Given the description of an element on the screen output the (x, y) to click on. 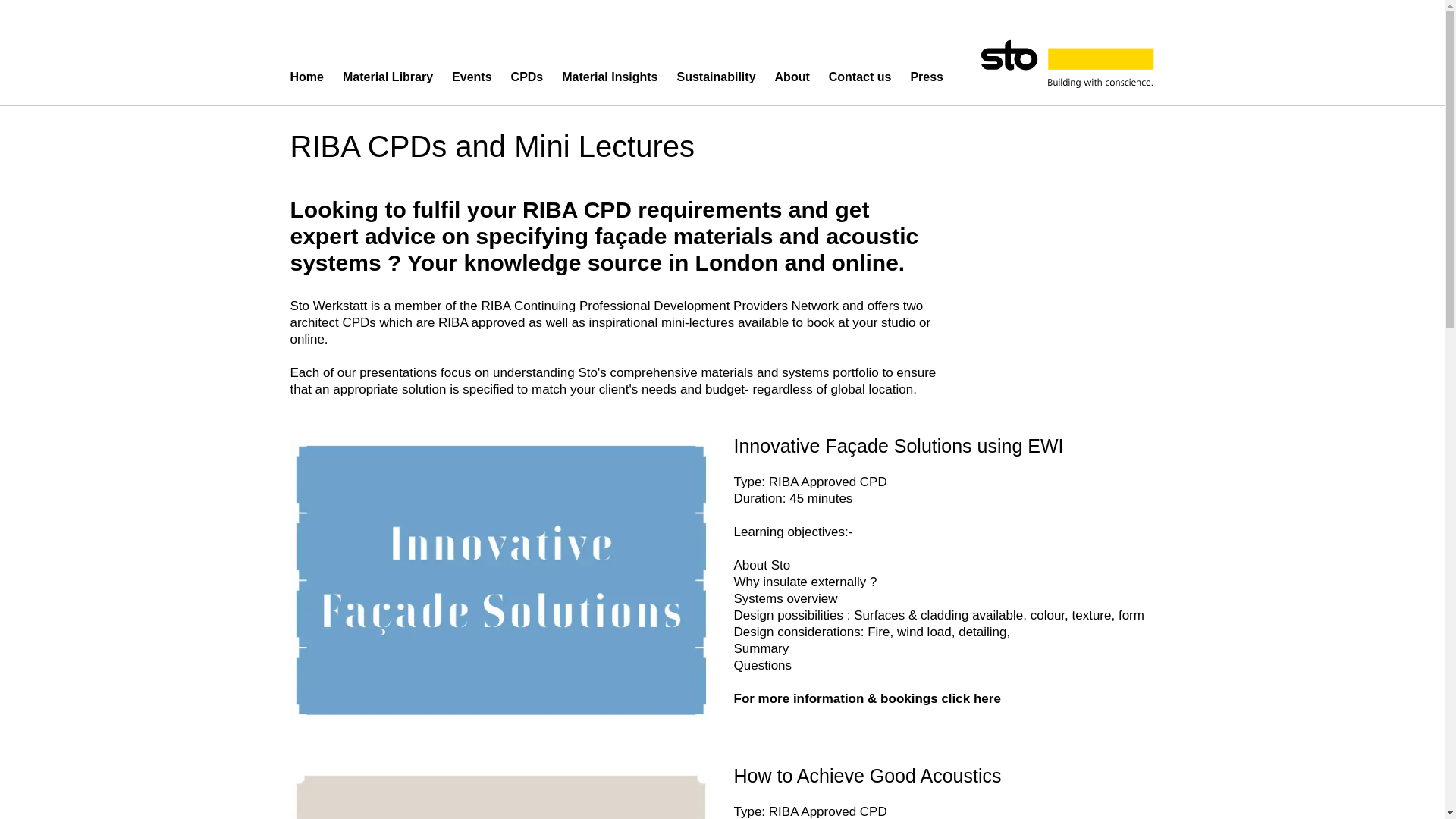
Material Insights (610, 76)
About (791, 76)
Material Library (387, 76)
Events (471, 76)
CPDs (527, 77)
Sustainability (716, 76)
Contact us (859, 76)
Home (306, 76)
Press (926, 76)
